Given the description of an element on the screen output the (x, y) to click on. 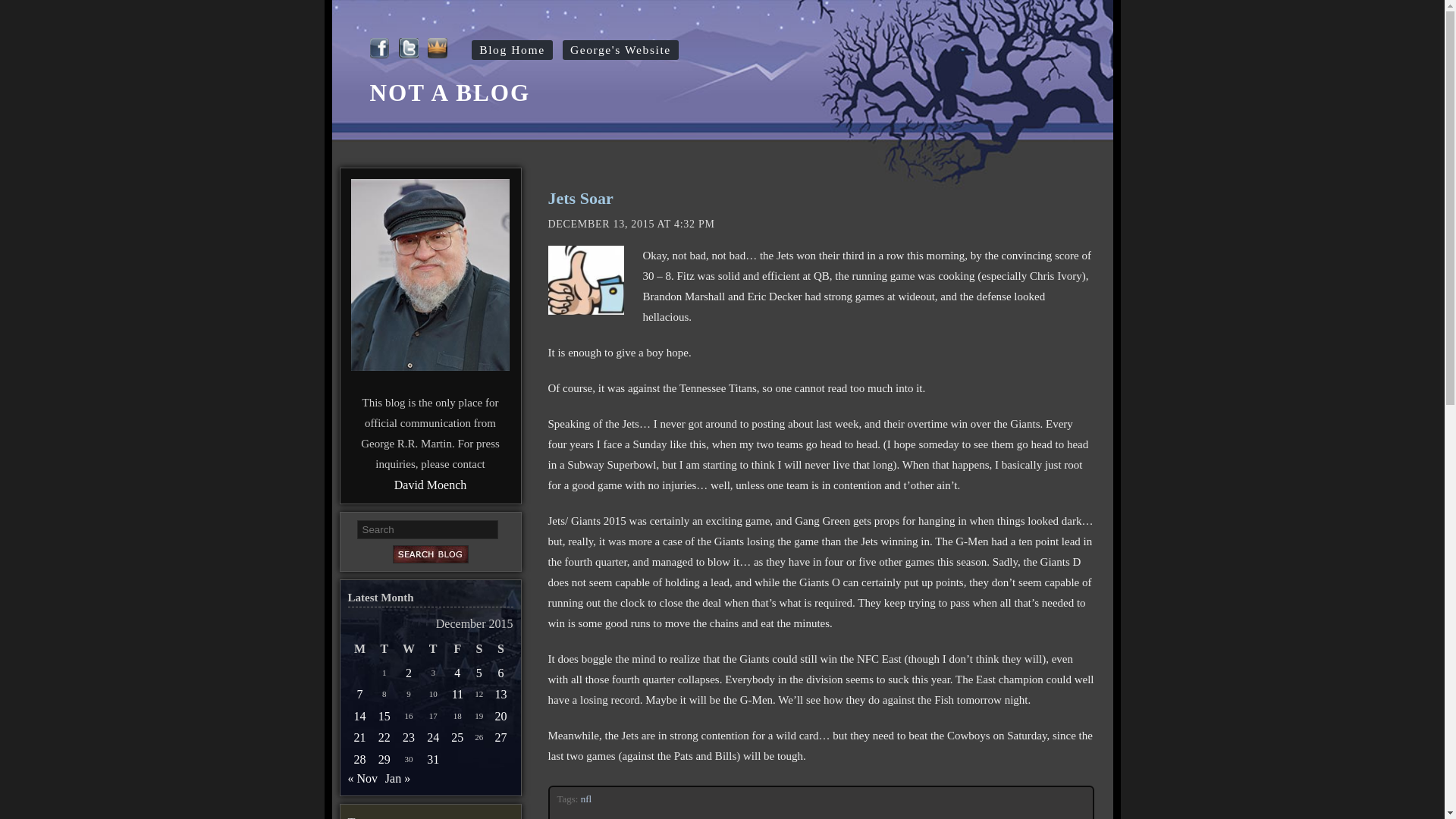
nfl (586, 798)
27 (500, 737)
Jets Soar (579, 198)
22 (384, 737)
23 (408, 737)
Wednesday (408, 649)
Monday (359, 649)
29 (384, 759)
24 (432, 737)
7 (359, 693)
